Given the description of an element on the screen output the (x, y) to click on. 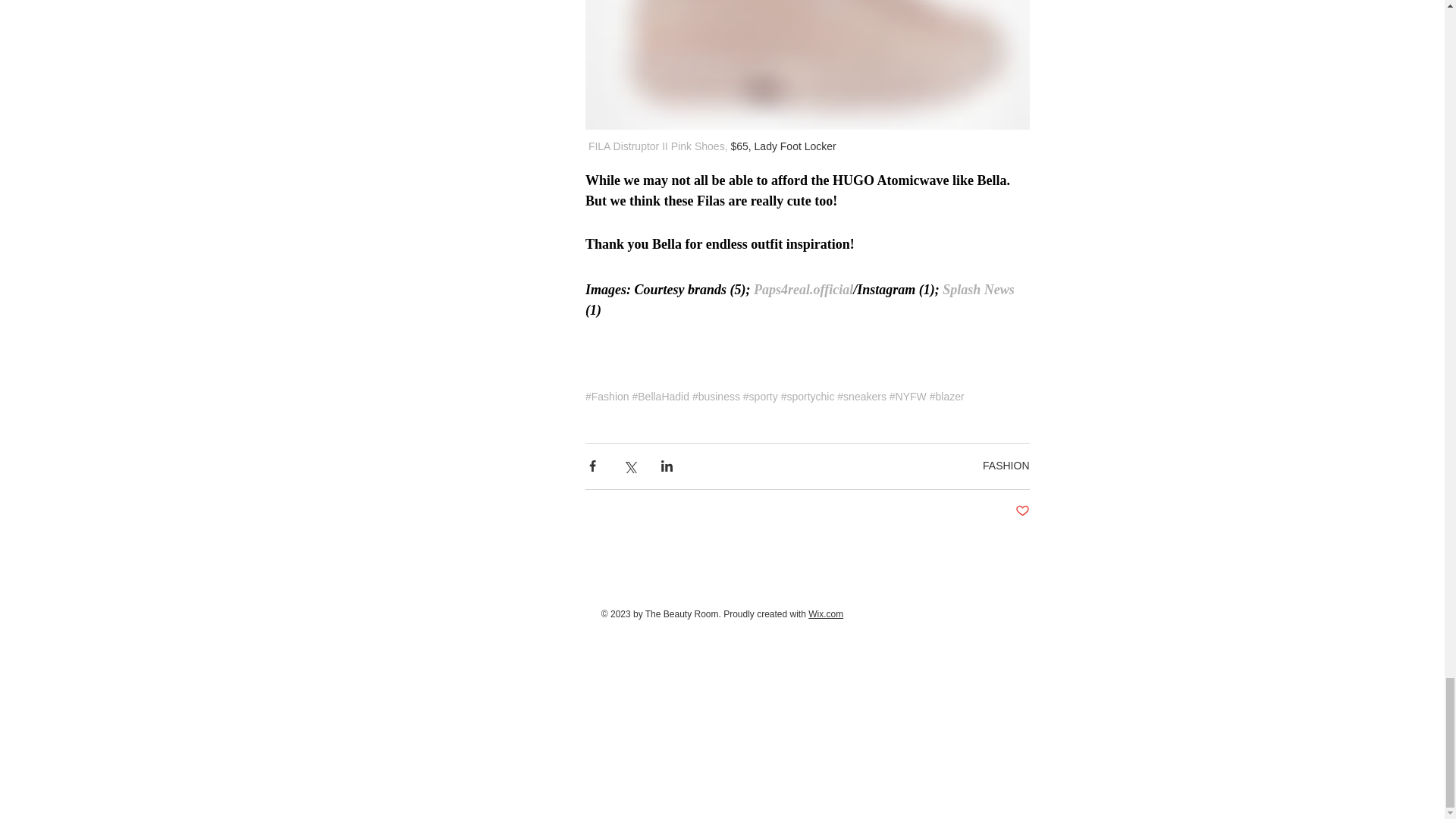
Wix.com (825, 614)
Post not marked as liked (1021, 511)
Paps4real.official (803, 289)
 FILA Distruptor II Pink Shoes, (656, 146)
FASHION (1005, 465)
 Splash News (976, 289)
